Given the description of an element on the screen output the (x, y) to click on. 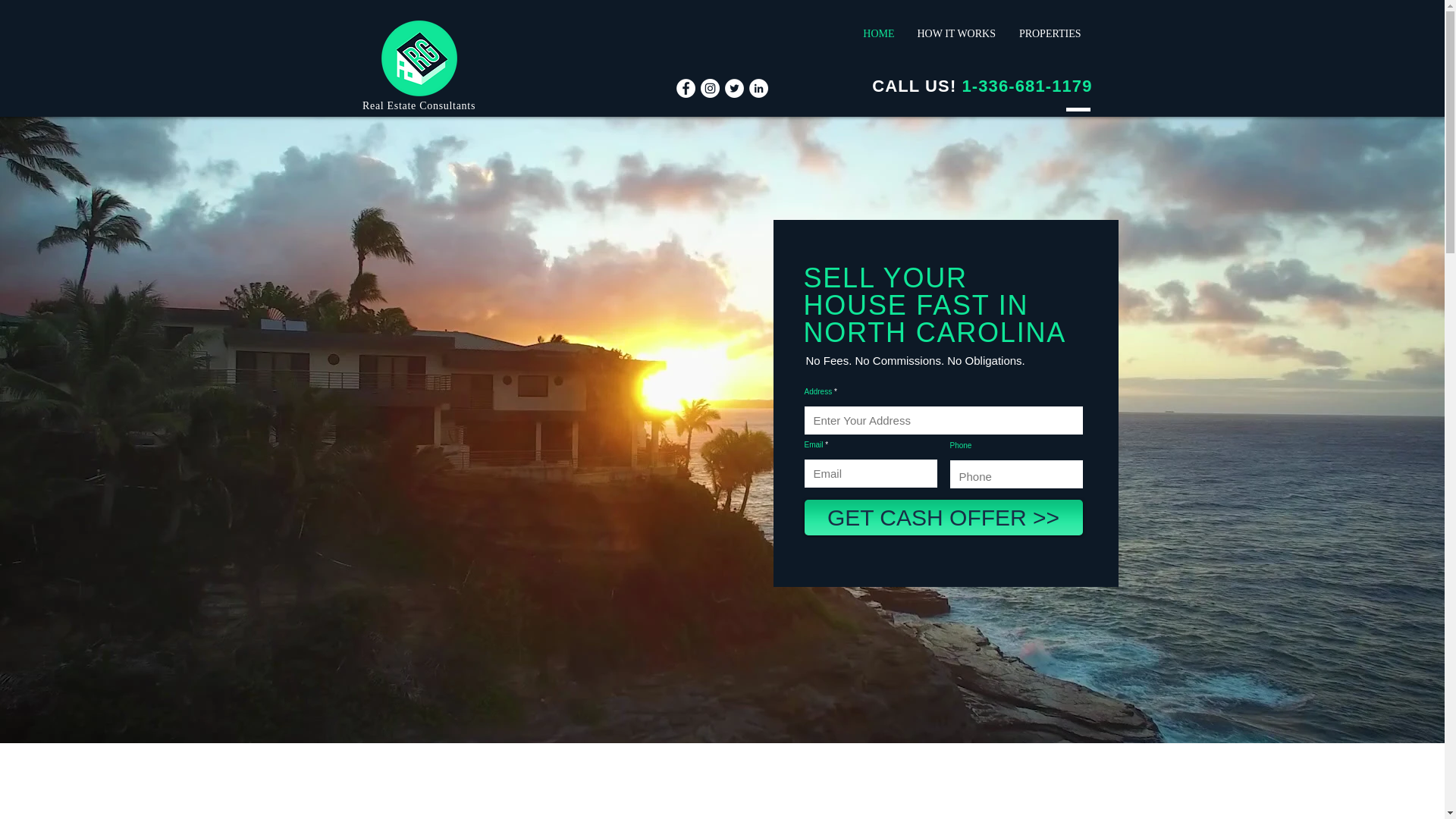
HOW IT WORKS (955, 33)
PROPERTIES (1050, 33)
Real Estate Consultants (419, 105)
HOME (877, 33)
